Given the description of an element on the screen output the (x, y) to click on. 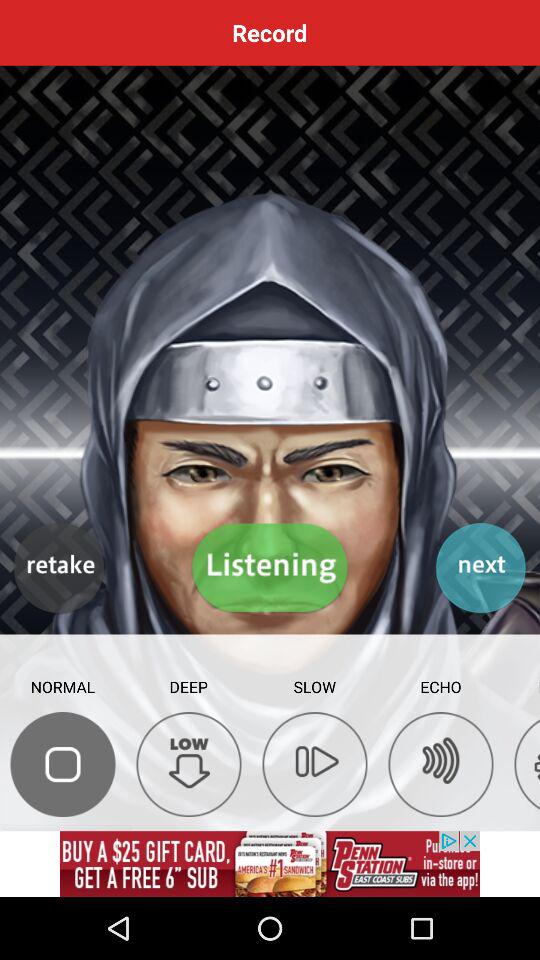
toggle play (269, 568)
